Given the description of an element on the screen output the (x, y) to click on. 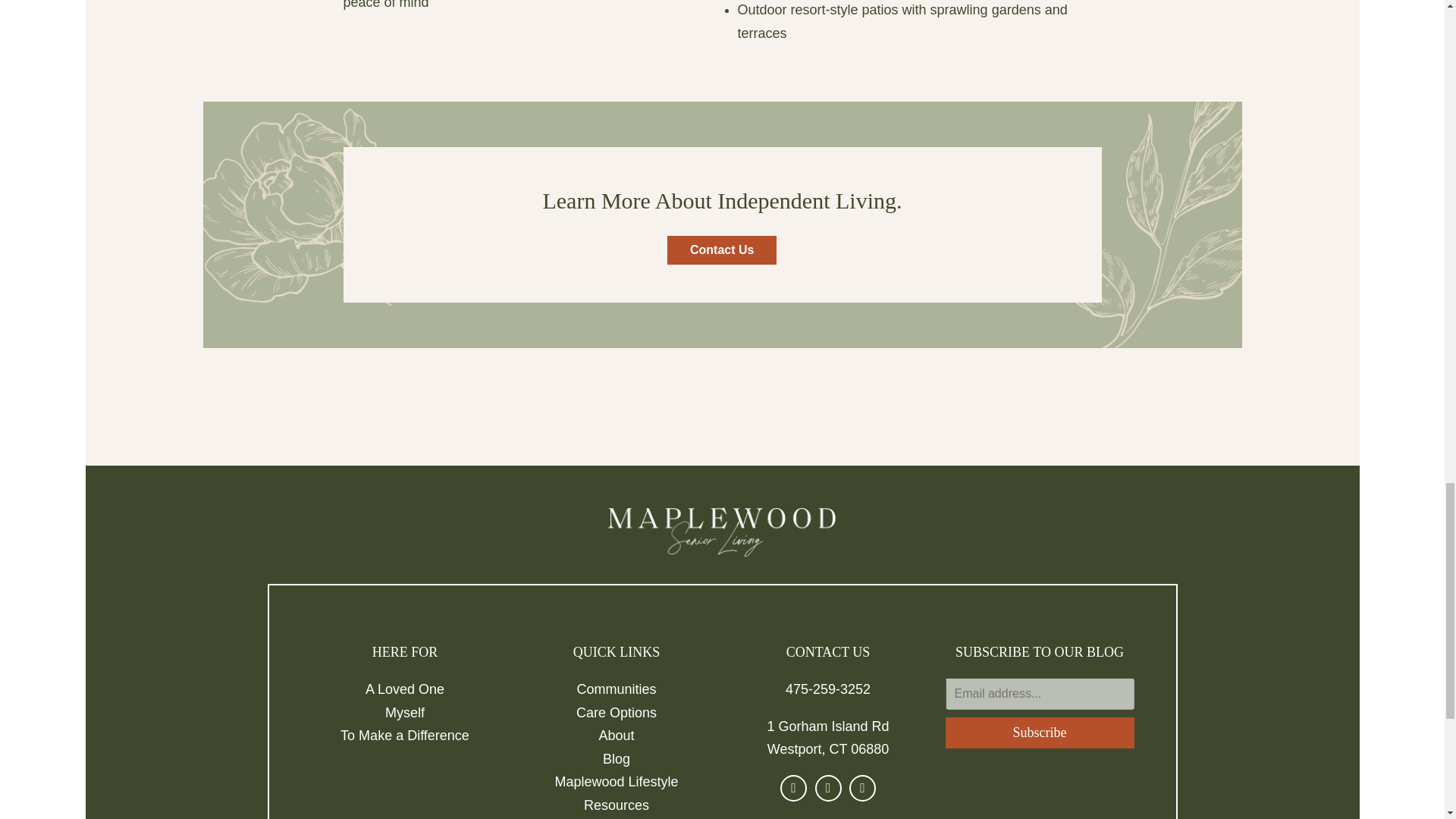
Subscribe (1039, 732)
Maplewood Senior Living (721, 531)
Instagram (862, 787)
Facebook (793, 787)
LinkedIn (828, 787)
